Given the description of an element on the screen output the (x, y) to click on. 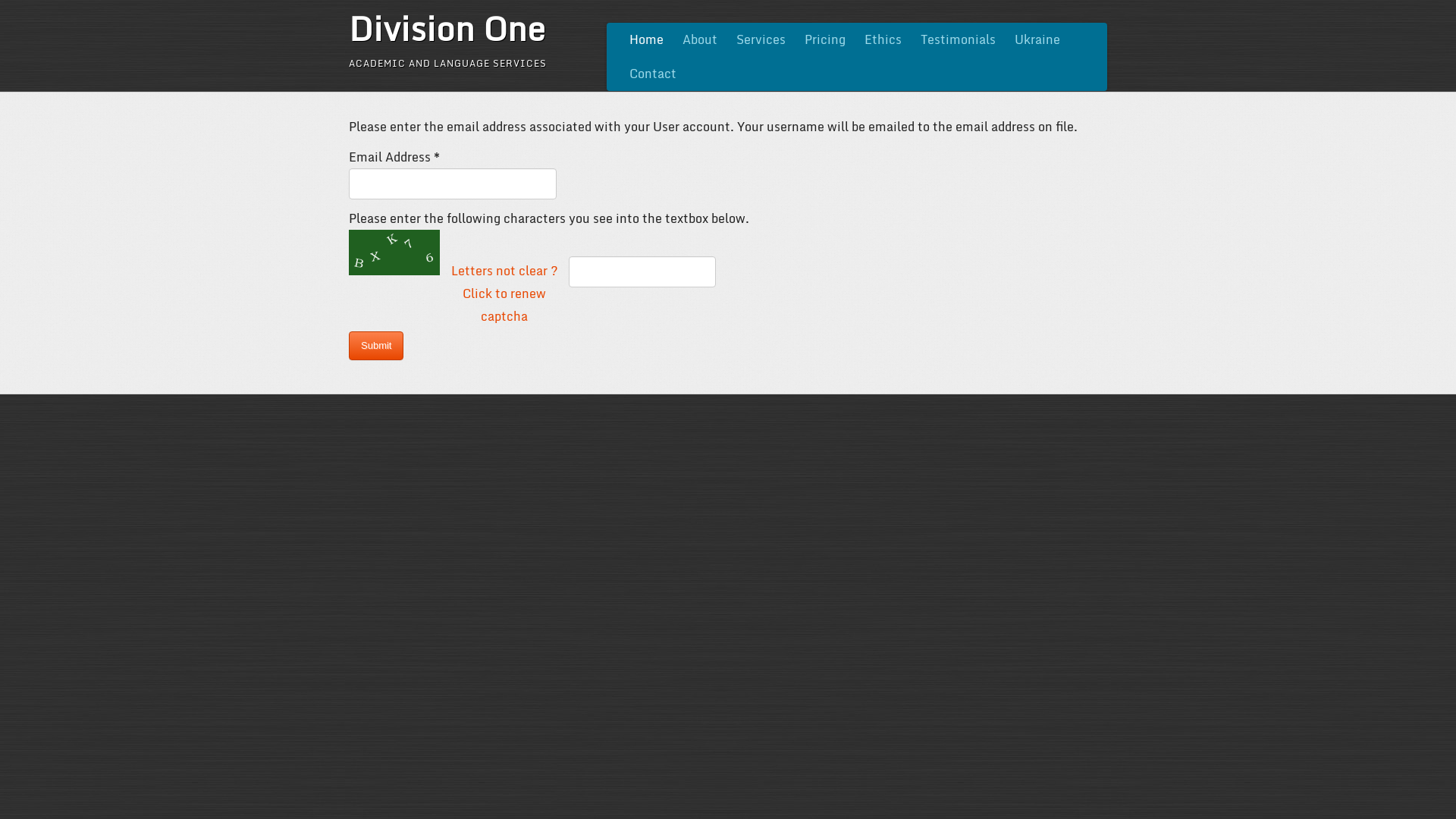
Division One Element type: text (446, 27)
Services Element type: text (760, 39)
Ukraine Element type: text (1037, 39)
Ethics Element type: text (882, 39)
Contact Element type: text (652, 73)
Submit Element type: text (375, 345)
Letters not clear ?
Click to renew captcha Element type: text (503, 293)
About Element type: text (699, 39)
Testimonials Element type: text (958, 39)
Home Element type: text (646, 39)
Pricing Element type: text (825, 39)
